Given the description of an element on the screen output the (x, y) to click on. 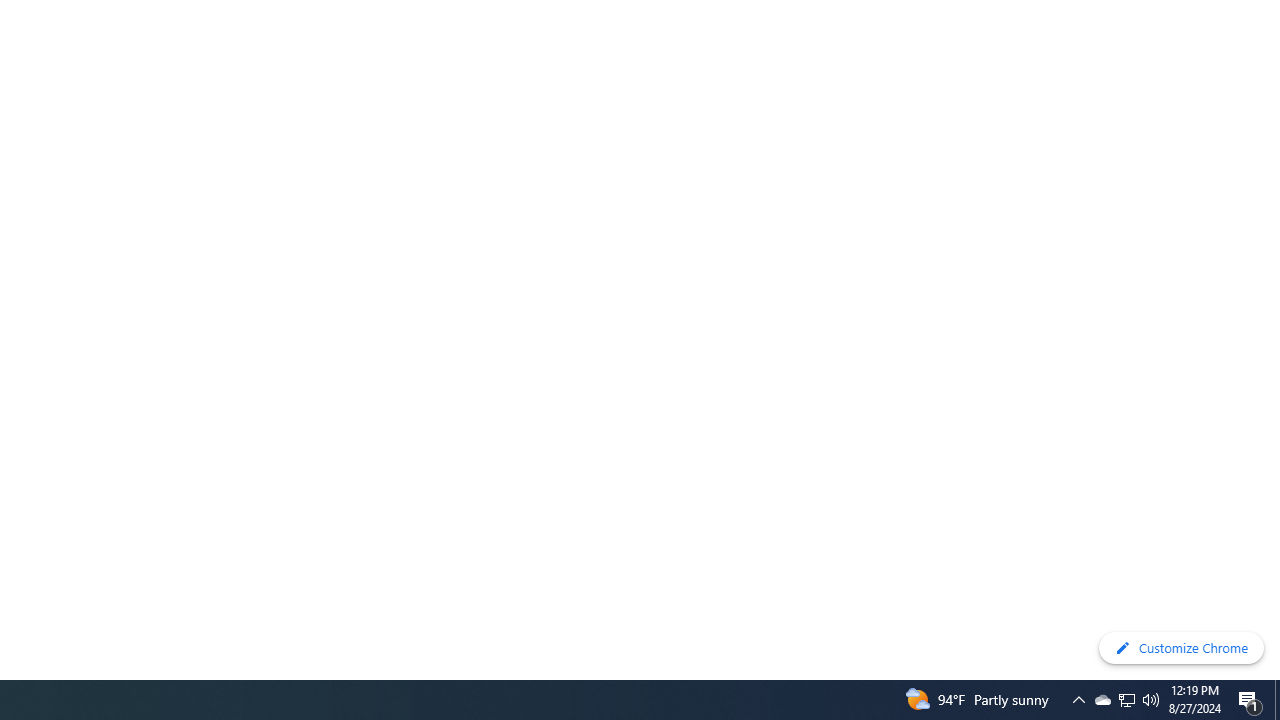
Customize Chrome (1181, 647)
